Given the description of an element on the screen output the (x, y) to click on. 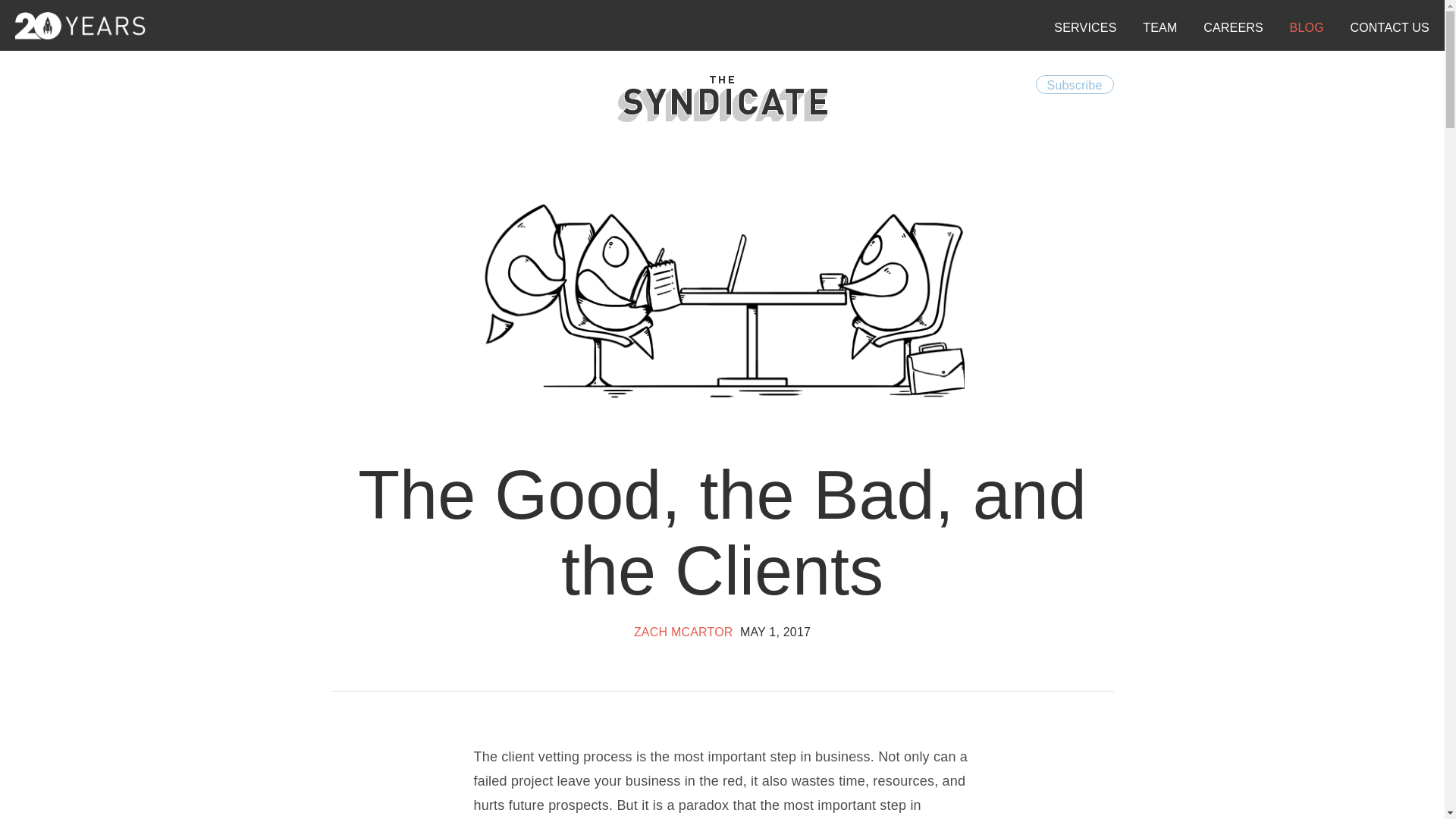
CONTACT US (1389, 27)
Subscribe (1074, 84)
SERVICES (1085, 27)
BLOG (1306, 27)
ZACH MCARTOR (683, 631)
TEAM (1159, 27)
CAREERS (1233, 27)
